Given the description of an element on the screen output the (x, y) to click on. 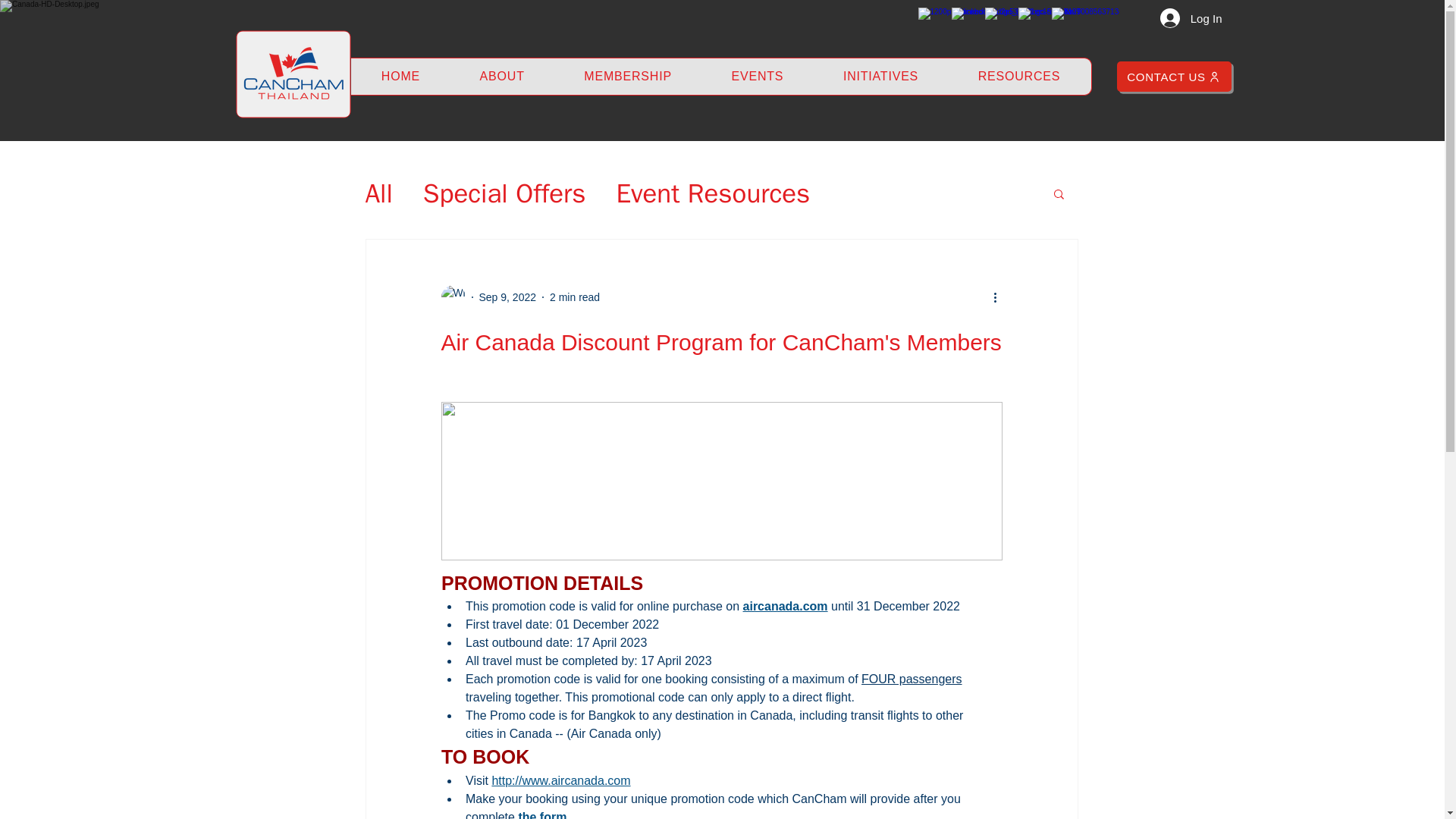
Sep 9, 2022 (508, 297)
2 min read (574, 297)
Log In (1191, 18)
HOME (400, 76)
